Given the description of an element on the screen output the (x, y) to click on. 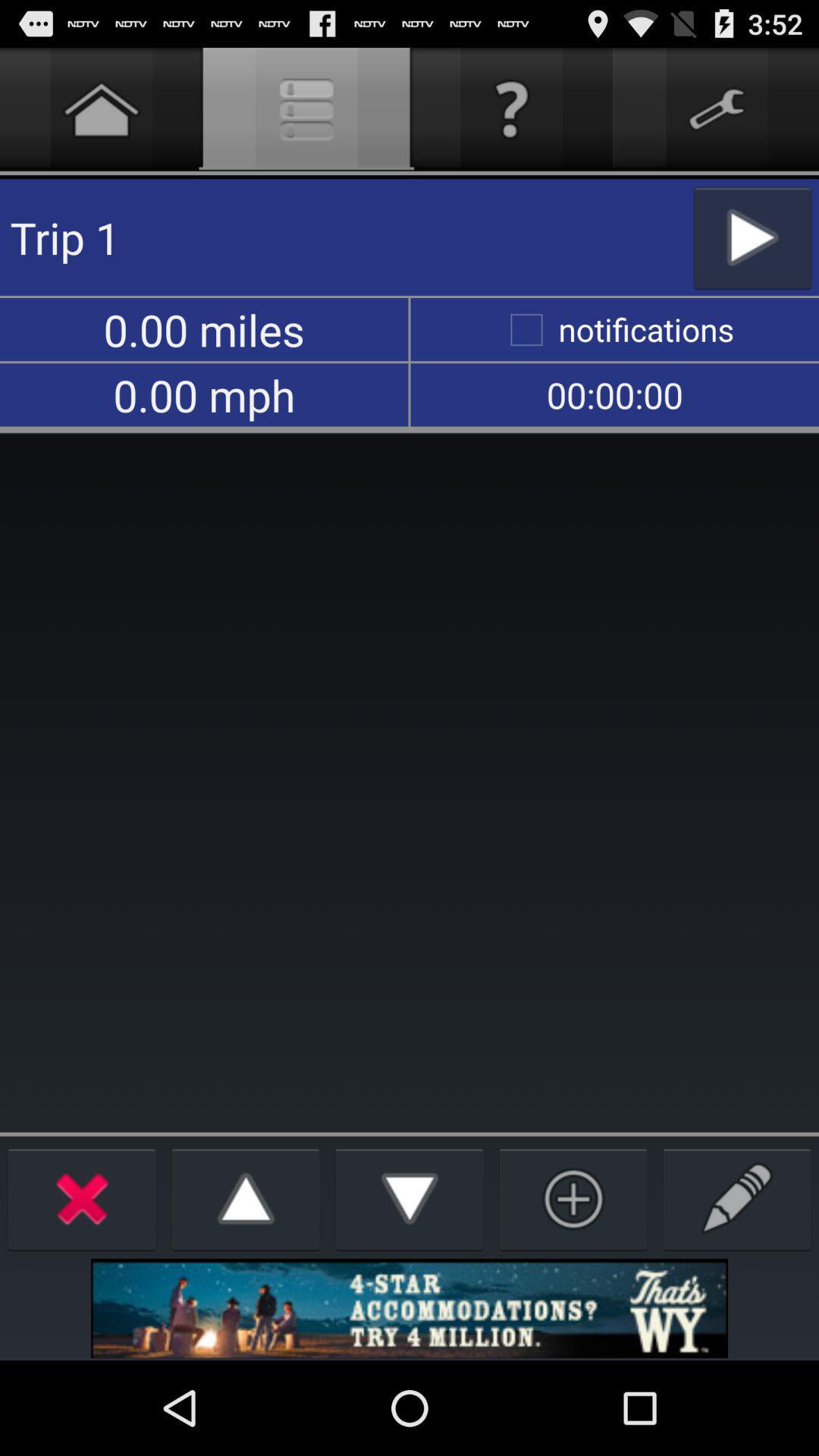
go down (409, 1198)
